Given the description of an element on the screen output the (x, y) to click on. 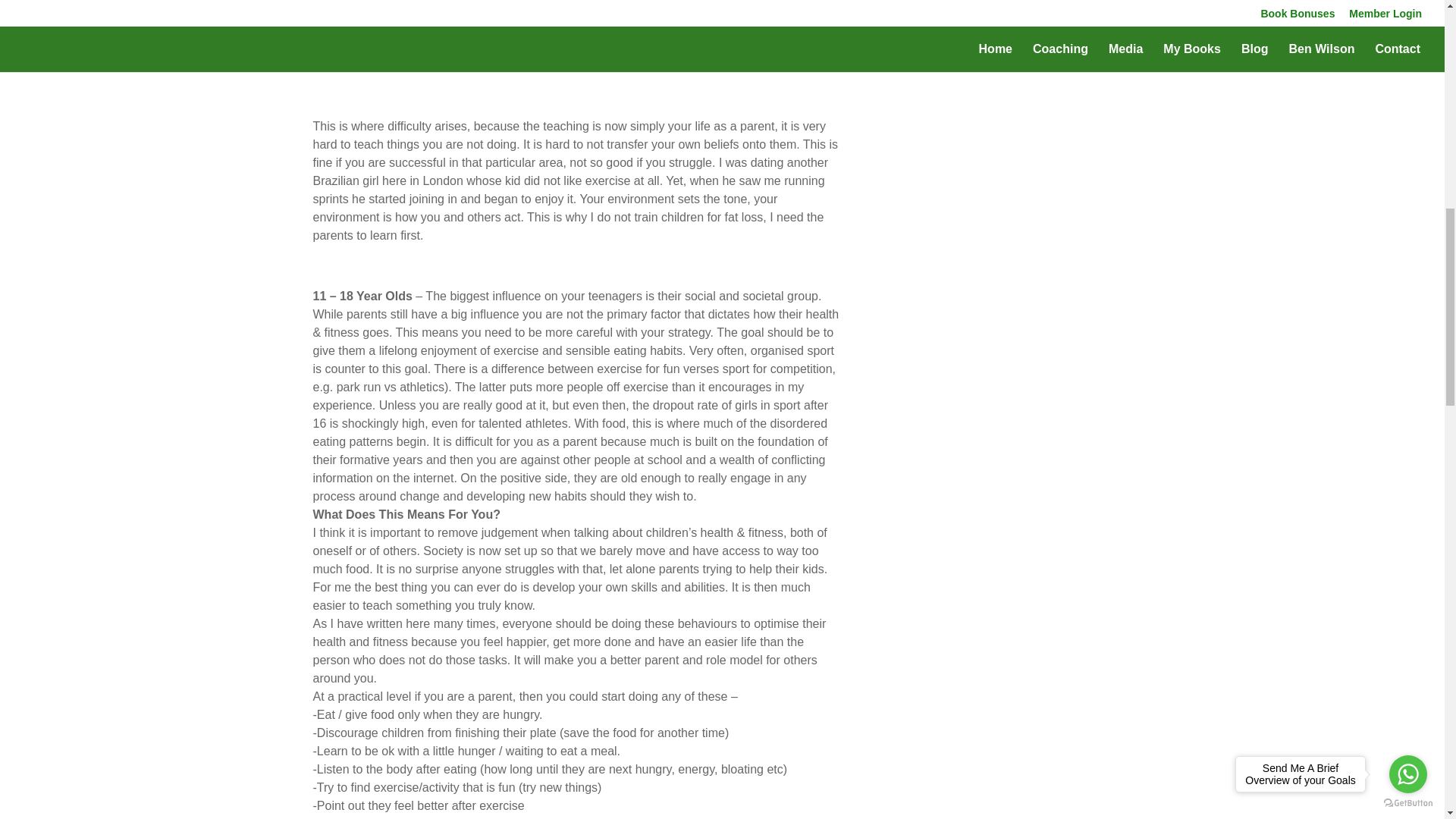
UK Obesity Data 2023 (524, 16)
